Given the description of an element on the screen output the (x, y) to click on. 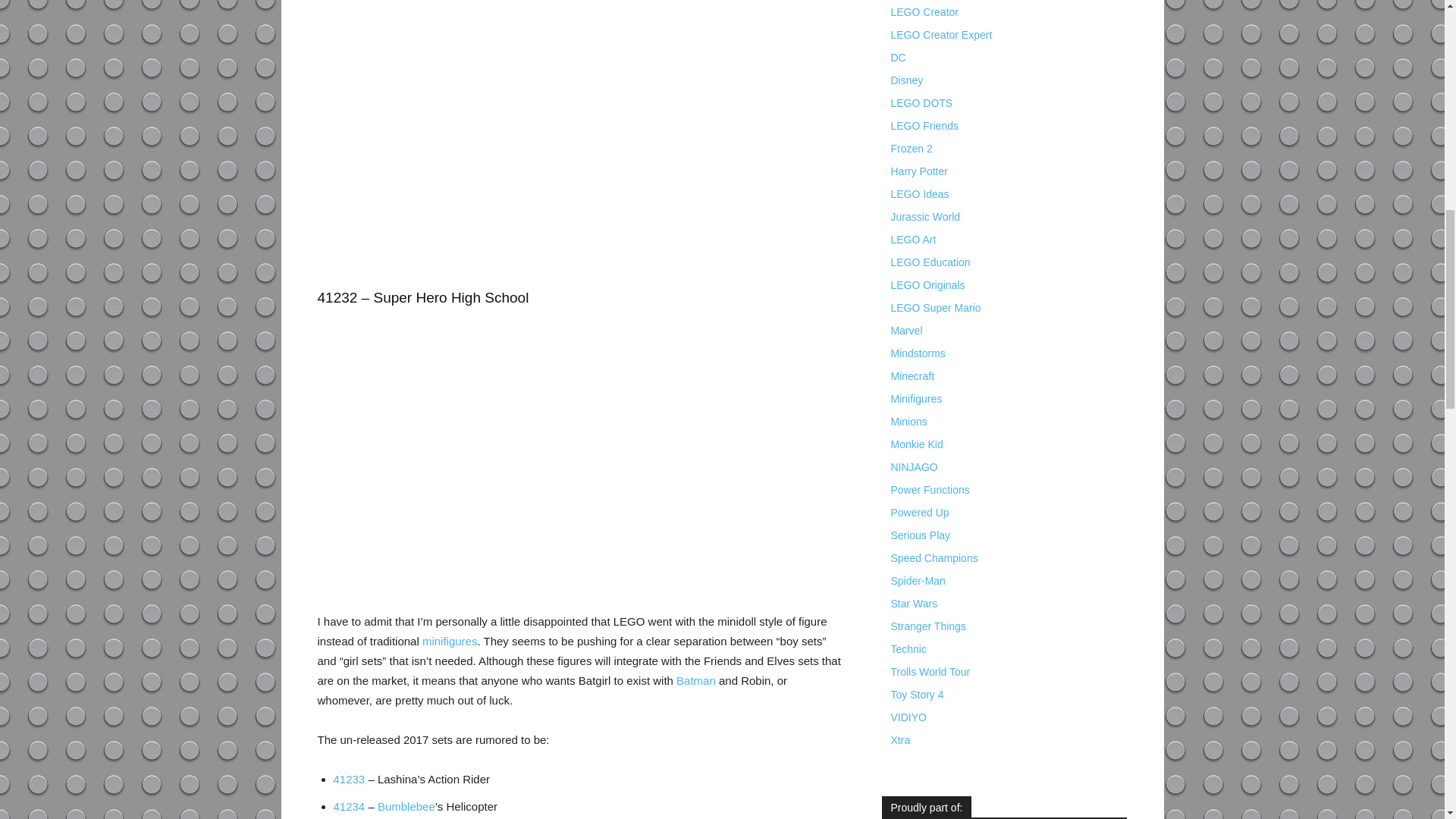
41233 (349, 779)
Bumblebee (406, 806)
minifigures (449, 640)
Batman (696, 680)
41234 (349, 806)
